Given the description of an element on the screen output the (x, y) to click on. 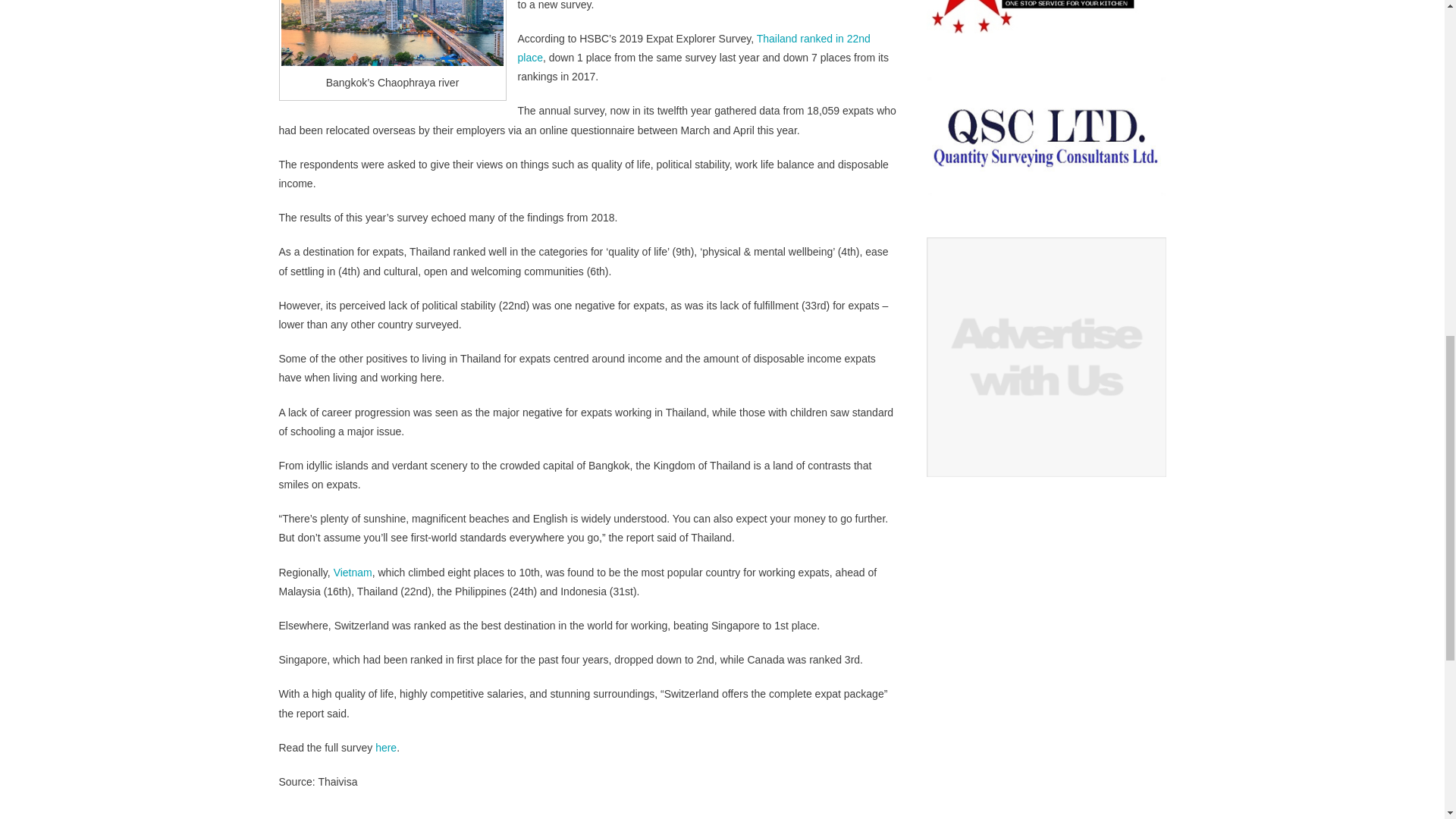
Vietnam (352, 572)
Thailand ranked in 22nd place (692, 47)
here (385, 747)
